Given the description of an element on the screen output the (x, y) to click on. 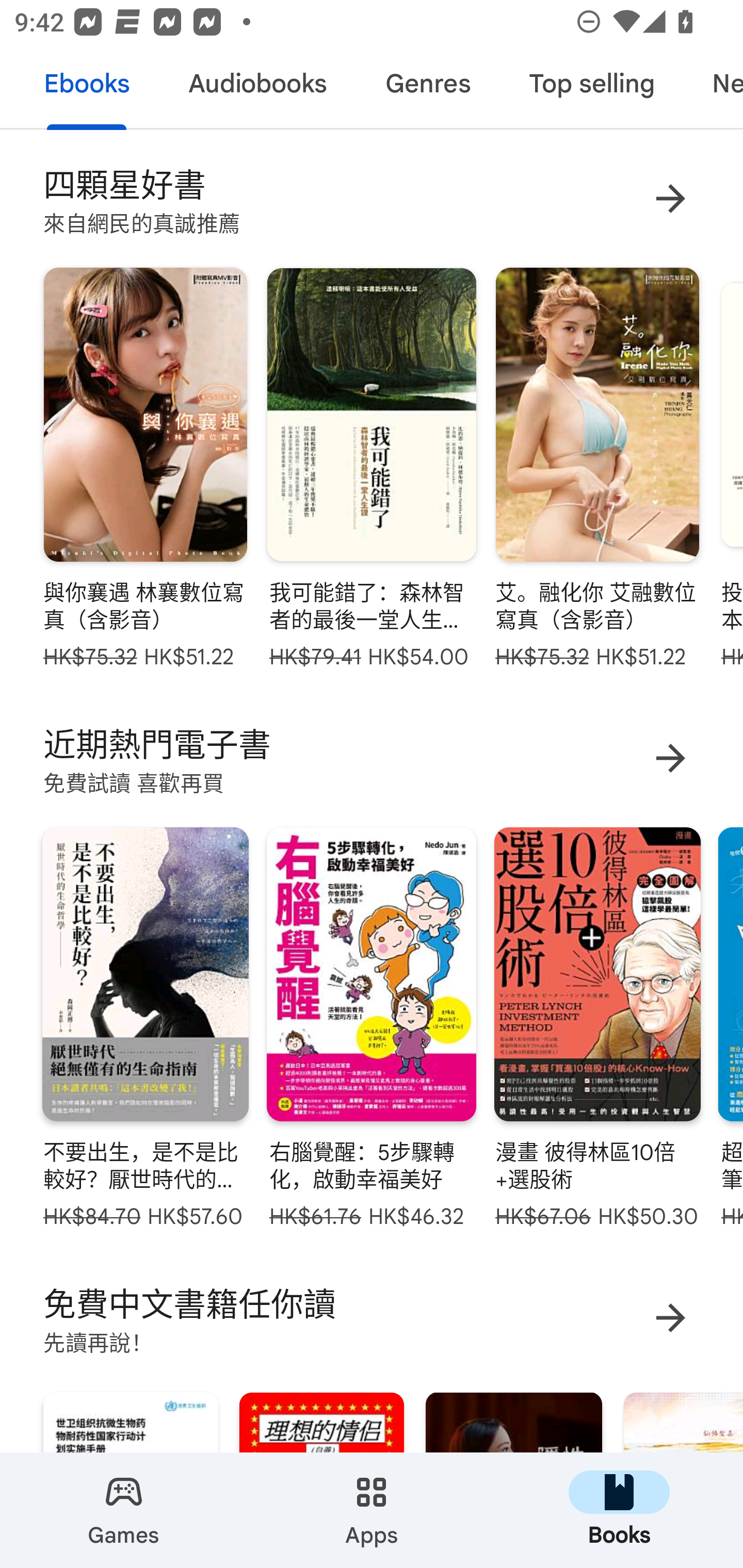
Audiobooks (257, 86)
Genres (427, 86)
Top selling (590, 86)
四顆星好書 來自網民的真誠推薦 More results for 四顆星好書 (371, 198)
More results for 四顆星好書 (670, 198)
近期熱門電子書 免費試讀 喜歡再買 More results for 近期熱門電子書 (371, 757)
More results for 近期熱門電子書 (670, 758)
免費中文書籍任你讀 先讀再說！ More results for 免費中文書籍任你讀 (371, 1317)
More results for 免費中文書籍任你讀 (670, 1317)
Games (123, 1509)
Apps (371, 1509)
